Given the description of an element on the screen output the (x, y) to click on. 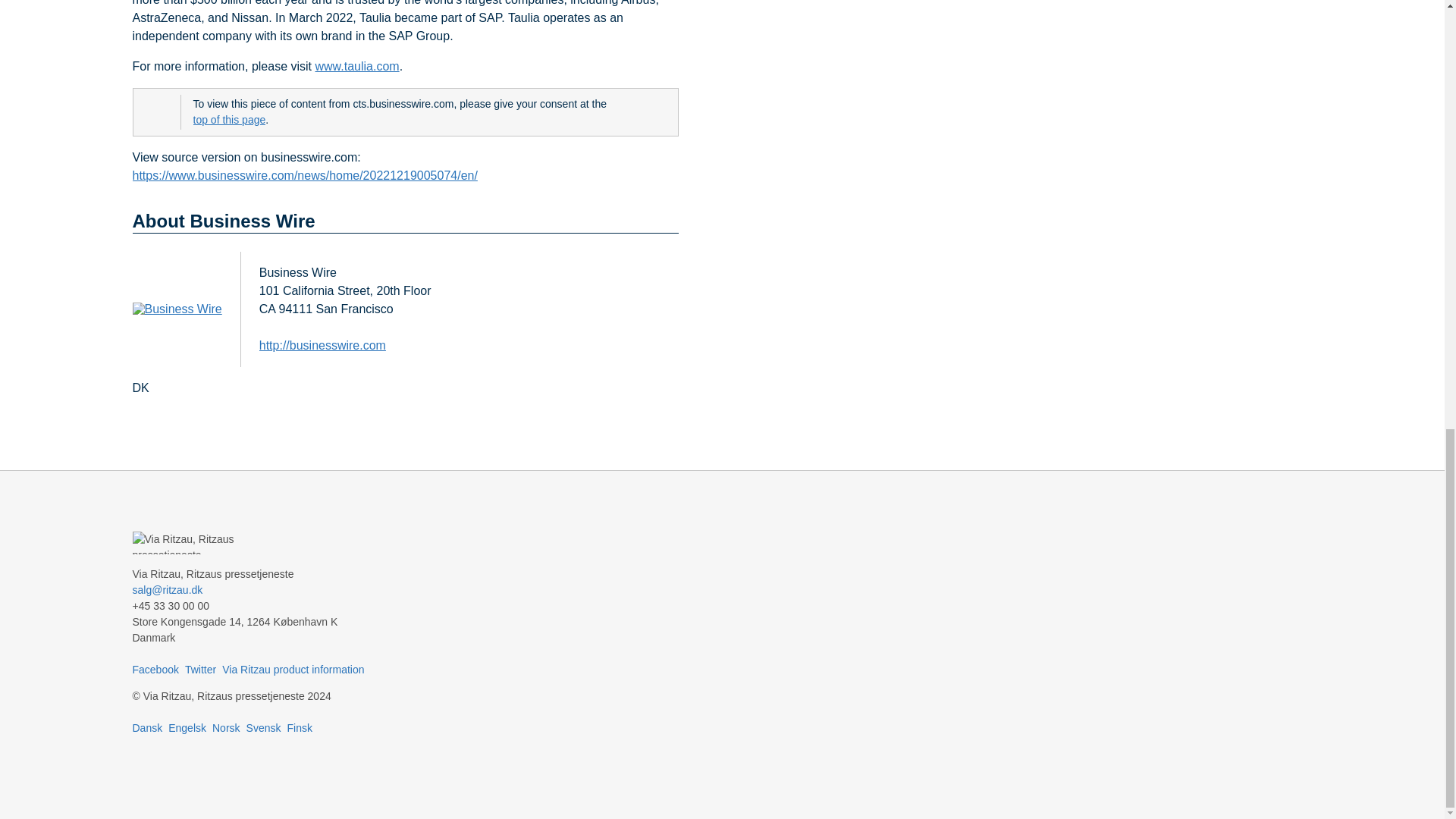
Dansk (146, 727)
Norsk (226, 727)
top of this page (228, 119)
Finsk (298, 727)
Via Ritzau product information (293, 669)
Svensk (263, 727)
Engelsk (187, 727)
Facebook (154, 669)
www.taulia.com (356, 66)
Twitter (199, 669)
